Given the description of an element on the screen output the (x, y) to click on. 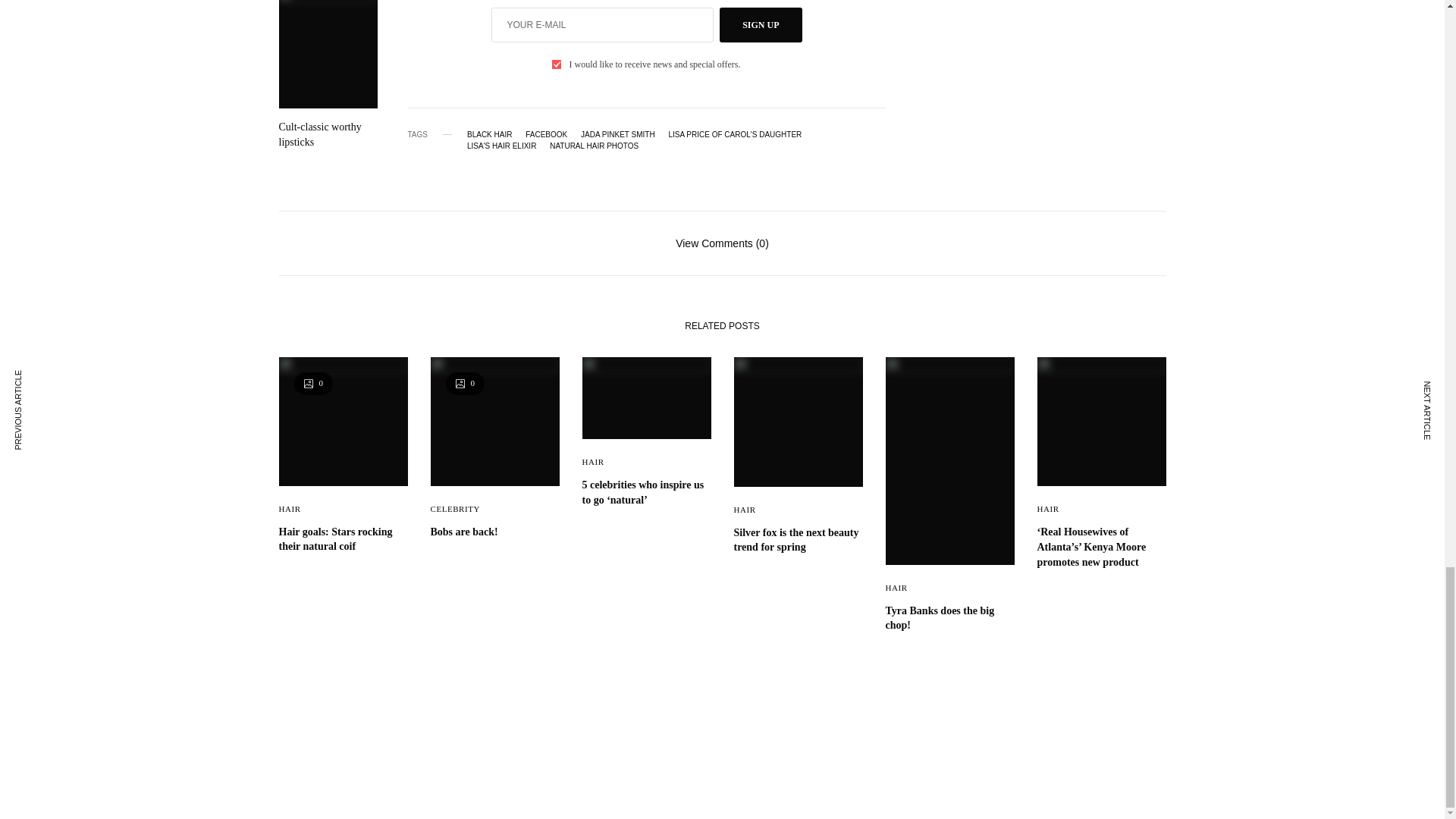
FACEBOOK (546, 134)
SIGN UP (760, 24)
LISA PRICE OF CAROL'S DAUGHTER (735, 134)
CELEBRITY (455, 508)
BLACK HAIR (489, 134)
Hair goals: Stars rocking their natural coif (343, 539)
JADA PINKET SMITH (617, 134)
Hair goals: Stars rocking their natural coif (343, 539)
Bobs are back! (494, 531)
Bobs are back! (494, 531)
